Given the description of an element on the screen output the (x, y) to click on. 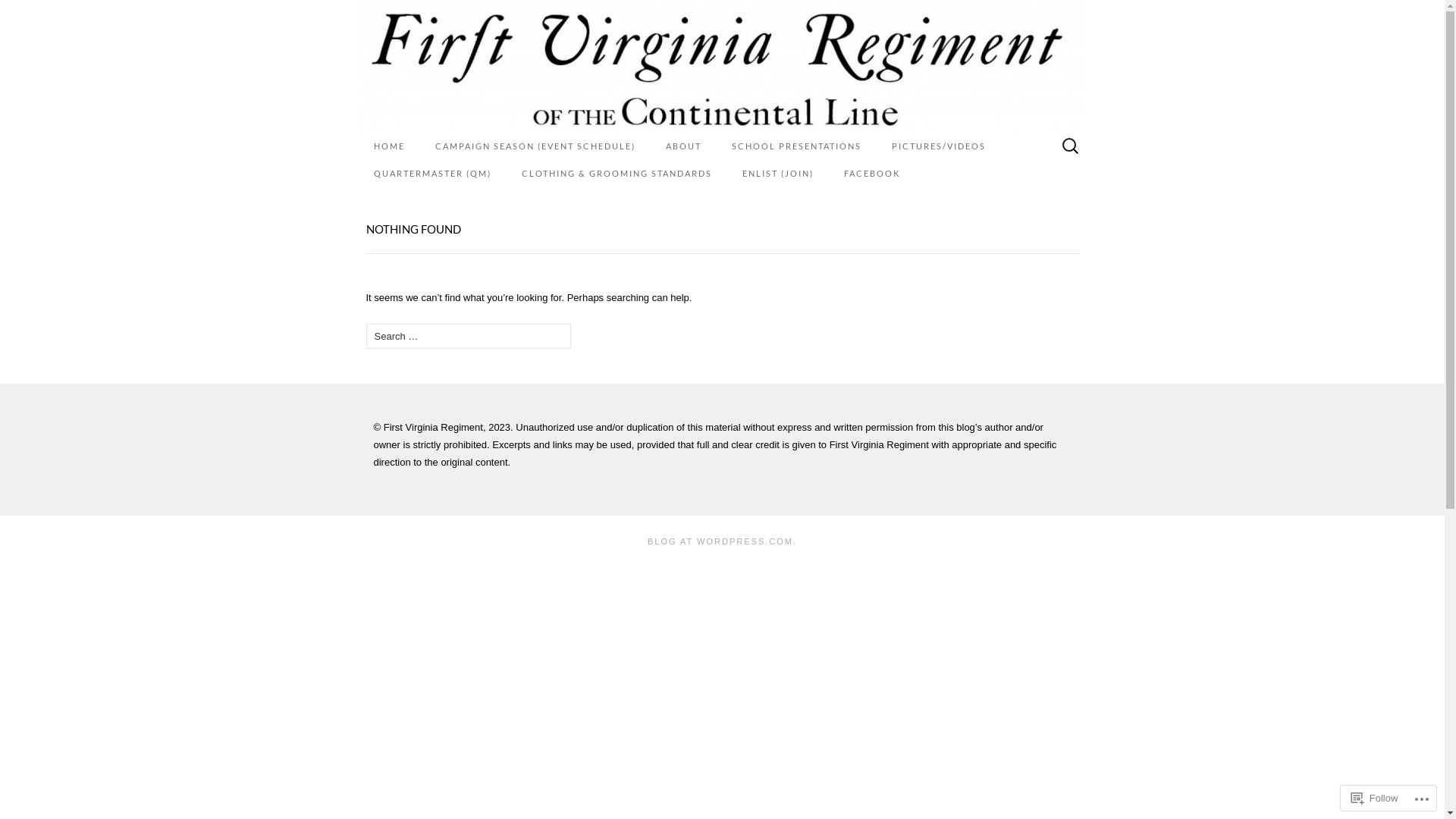
ENLIST (JOIN) Element type: text (777, 173)
QUARTERMASTER (QM) Element type: text (431, 173)
ABOUT Element type: text (683, 146)
CAMPAIGN SEASON (EVENT SCHEDULE) Element type: text (535, 146)
BLOG AT WORDPRESS.COM. Element type: text (722, 541)
FACEBOOK Element type: text (871, 173)
SCHOOL PRESENTATIONS Element type: text (795, 146)
HOME Element type: text (388, 146)
Search Element type: text (15, 12)
PICTURES/VIDEOS Element type: text (938, 146)
Follow Element type: text (1374, 797)
CLOTHING & GROOMING STANDARDS Element type: text (616, 173)
Search Element type: text (39, 12)
